Given the description of an element on the screen output the (x, y) to click on. 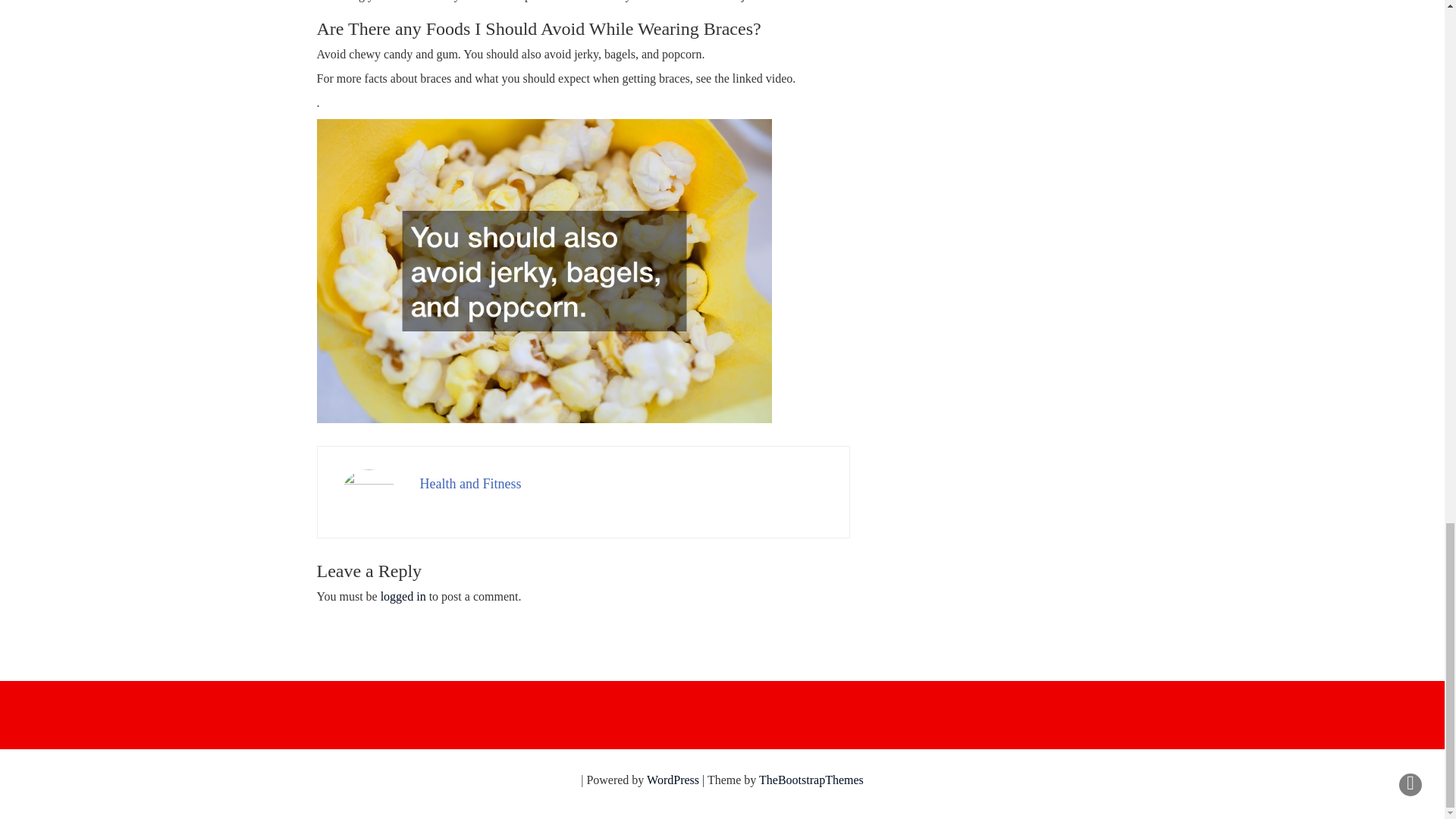
Health and Fitness (470, 483)
TheBootstrapThemes (810, 779)
WordPress (672, 779)
logged in (403, 595)
